Given the description of an element on the screen output the (x, y) to click on. 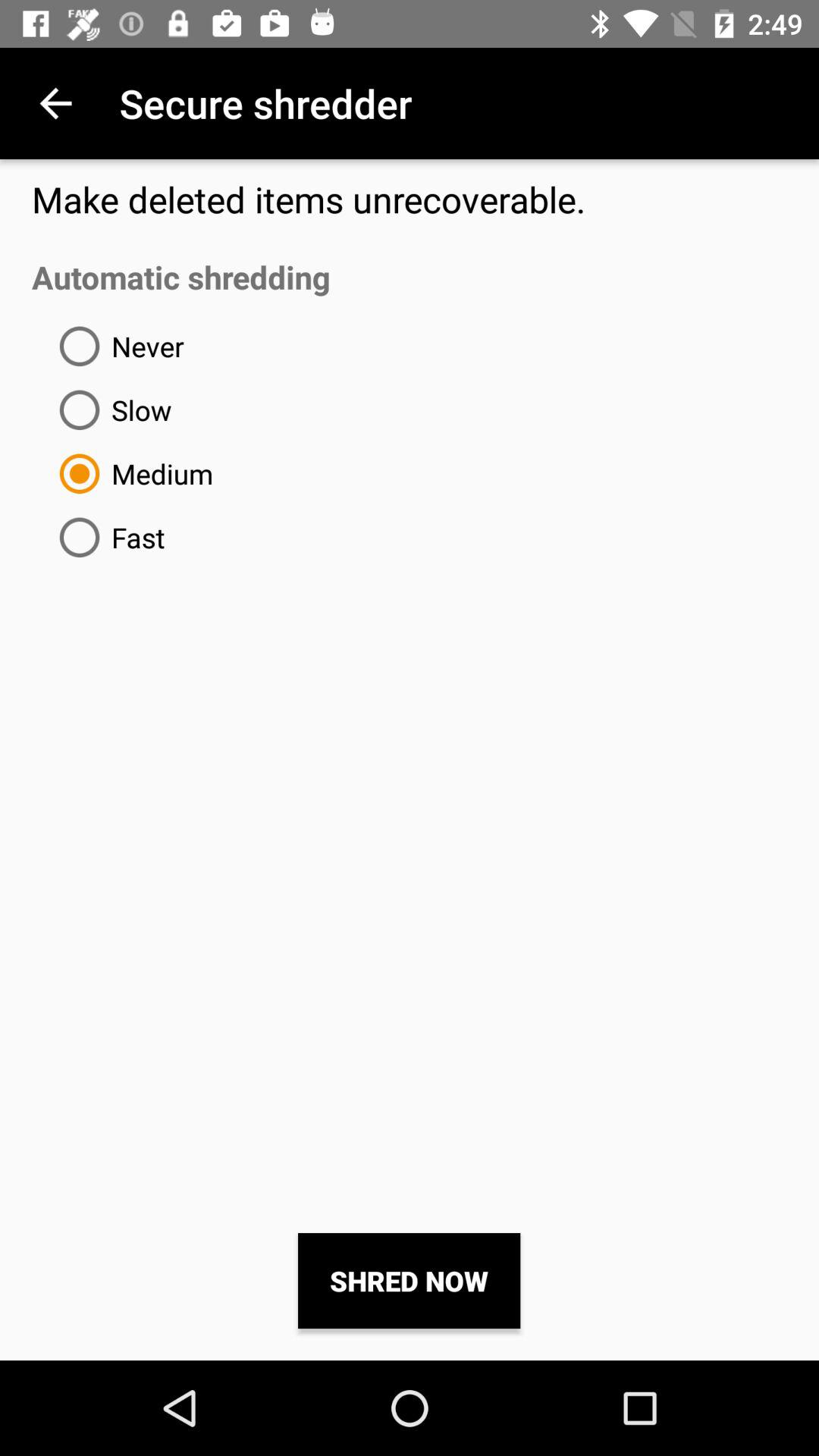
jump to the fast item (105, 537)
